Given the description of an element on the screen output the (x, y) to click on. 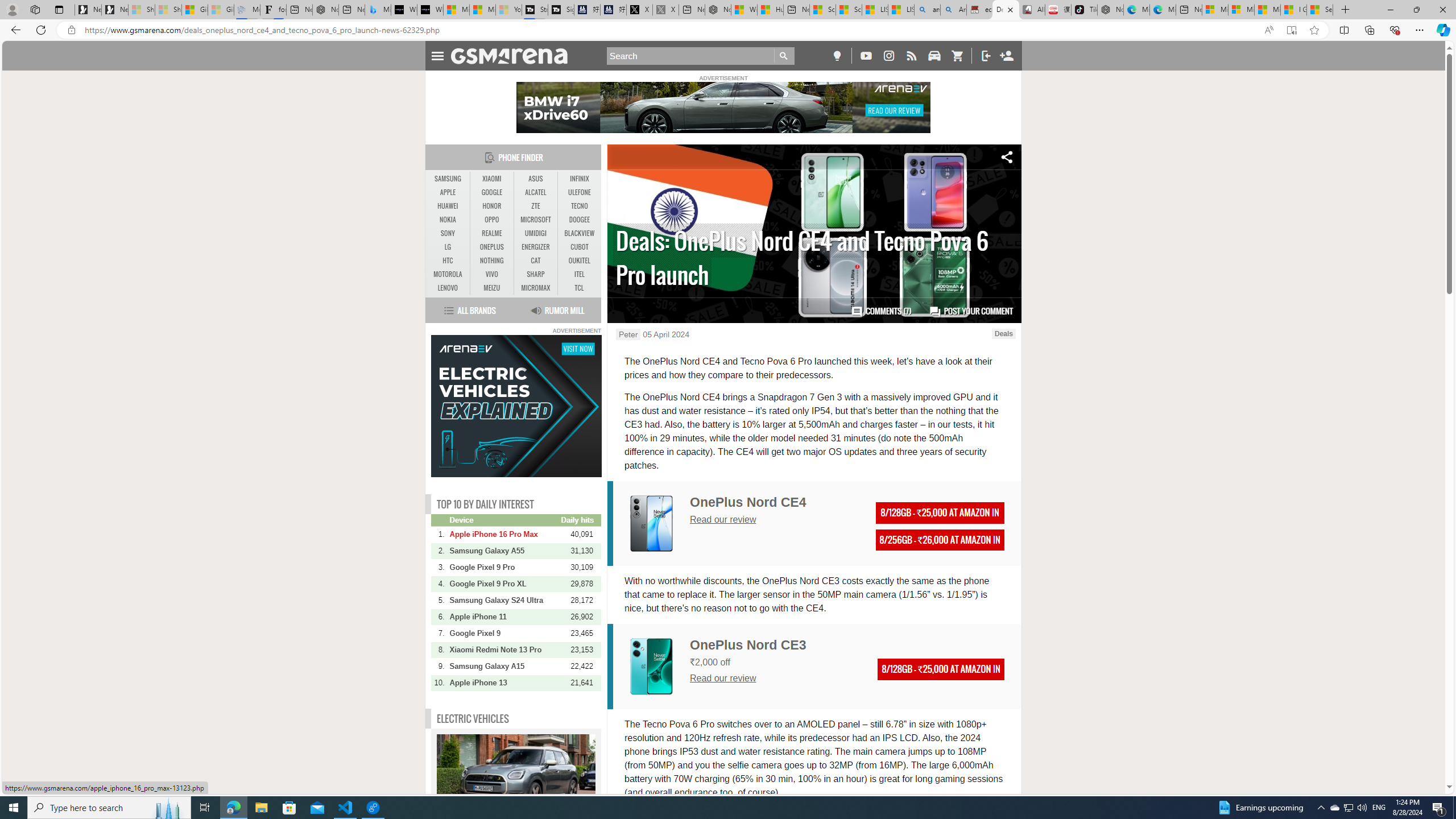
OPPO (491, 219)
ITEL (579, 273)
Microsoft account | Privacy (1241, 9)
Nordace - Best Sellers (1110, 9)
OUKITEL (579, 260)
UMIDIGI (535, 233)
ULEFONE (579, 192)
APPLE (448, 192)
